Given the description of an element on the screen output the (x, y) to click on. 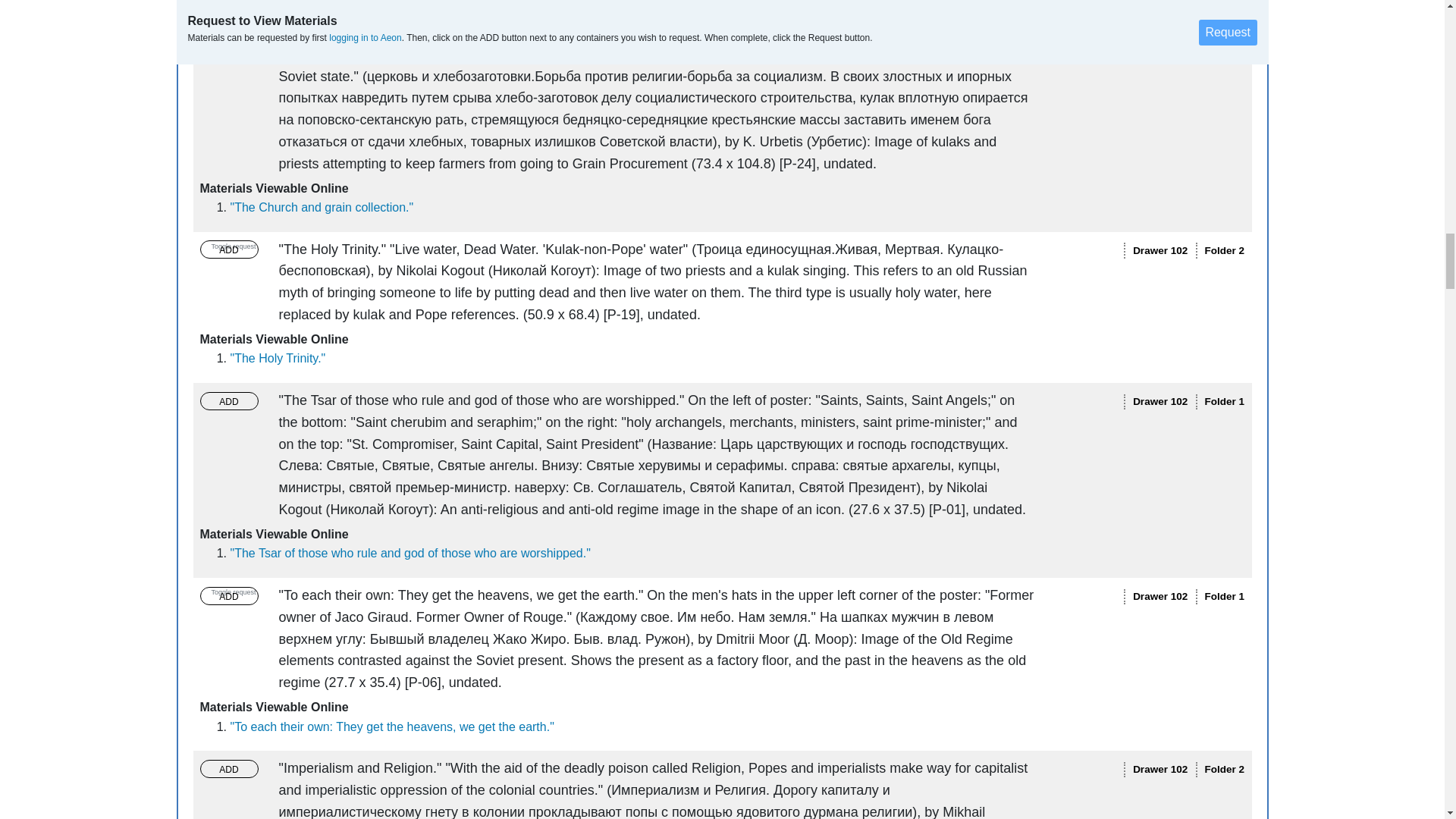
"The Holy Trinity." (278, 358)
"The Church and grain collection." (321, 206)
"To each their own: They get the heavens, we get the earth." (392, 726)
